Given the description of an element on the screen output the (x, y) to click on. 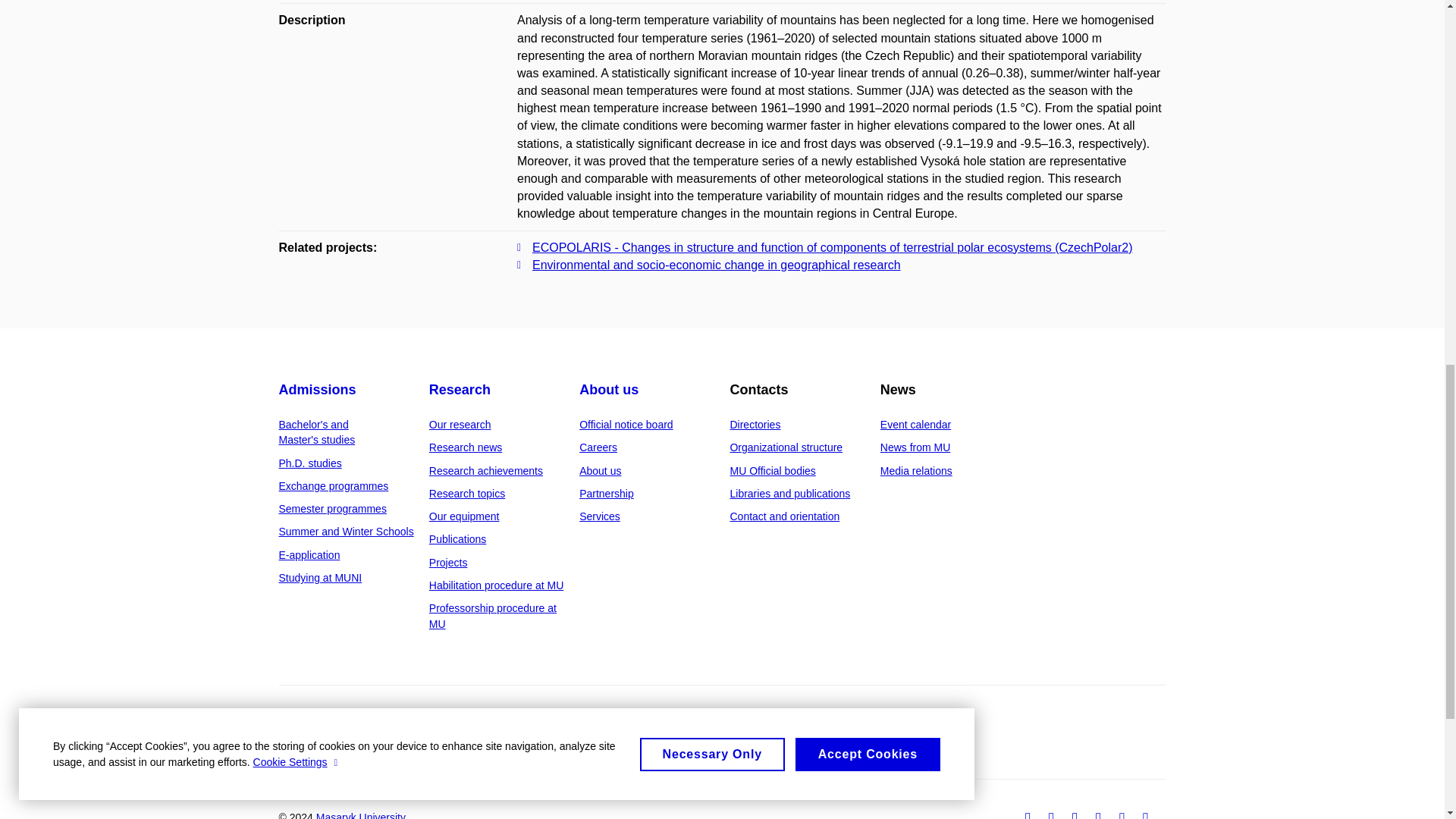
Our equipment (464, 516)
Studying at MUNI (320, 577)
Ph.D. studies (310, 463)
Research (459, 389)
Admissions (317, 389)
Summer and Winter Schools (346, 531)
Research news (465, 447)
Research topics (467, 493)
Our research (460, 424)
Research achievements (486, 470)
Projects (448, 562)
Exchange programmes (333, 485)
Semester programmes (333, 508)
E-application (309, 554)
Publications (457, 539)
